Given the description of an element on the screen output the (x, y) to click on. 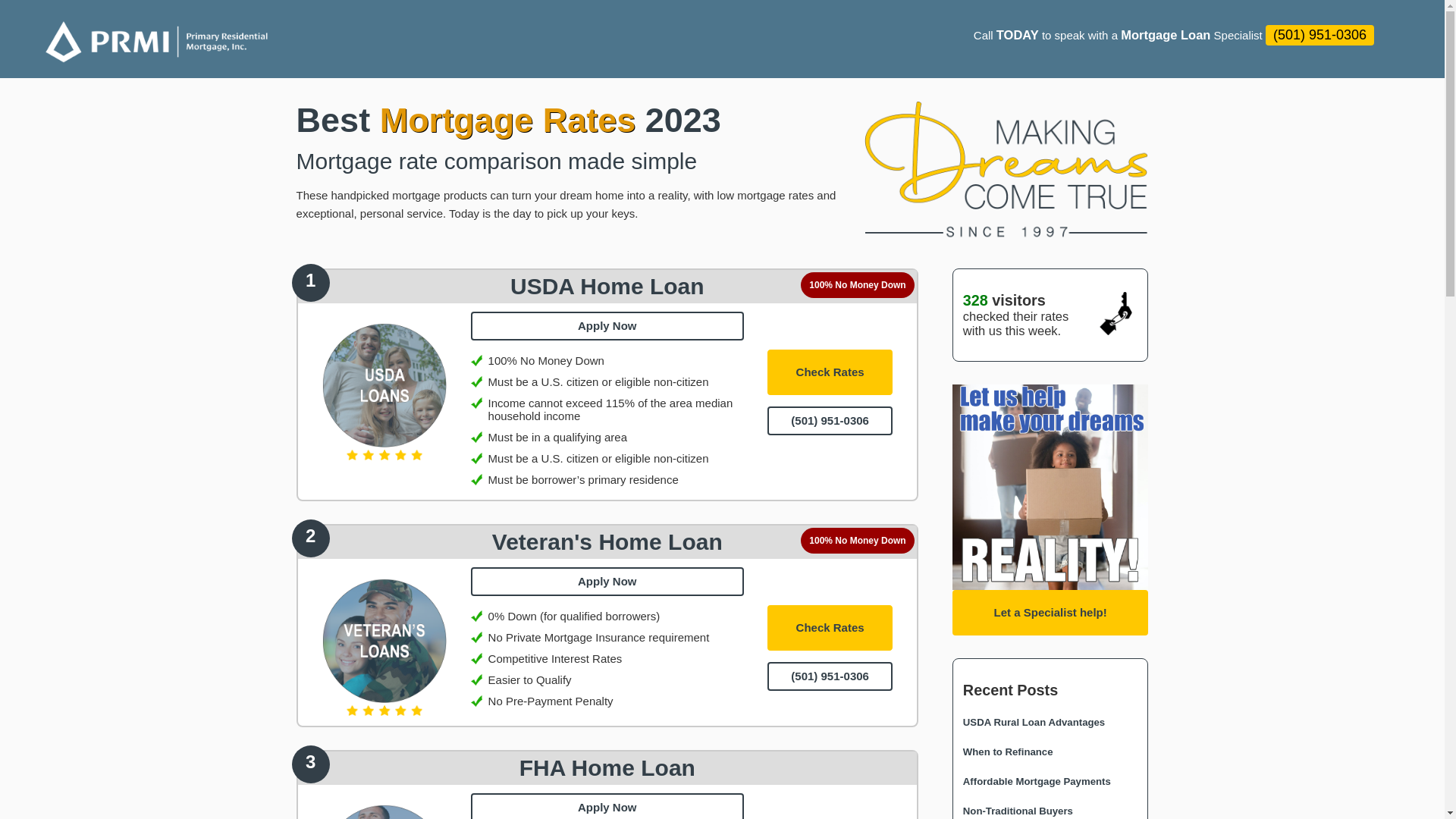
Apply Now Element type: text (606, 325)
(501) 951-0306 Element type: text (829, 420)
(501) 951-0306 Element type: text (829, 676)
Let a Specialist help! Element type: text (1050, 612)
Check Rates Element type: text (829, 627)
USDA Rural Loan Advantages Element type: text (1033, 722)
When to Refinance Element type: text (1008, 751)
Affordable Mortgage Payments Element type: text (1036, 781)
Apply Now Element type: text (606, 581)
Check Rates Element type: text (829, 372)
Non-Traditional Buyers Element type: text (1018, 810)
